Given the description of an element on the screen output the (x, y) to click on. 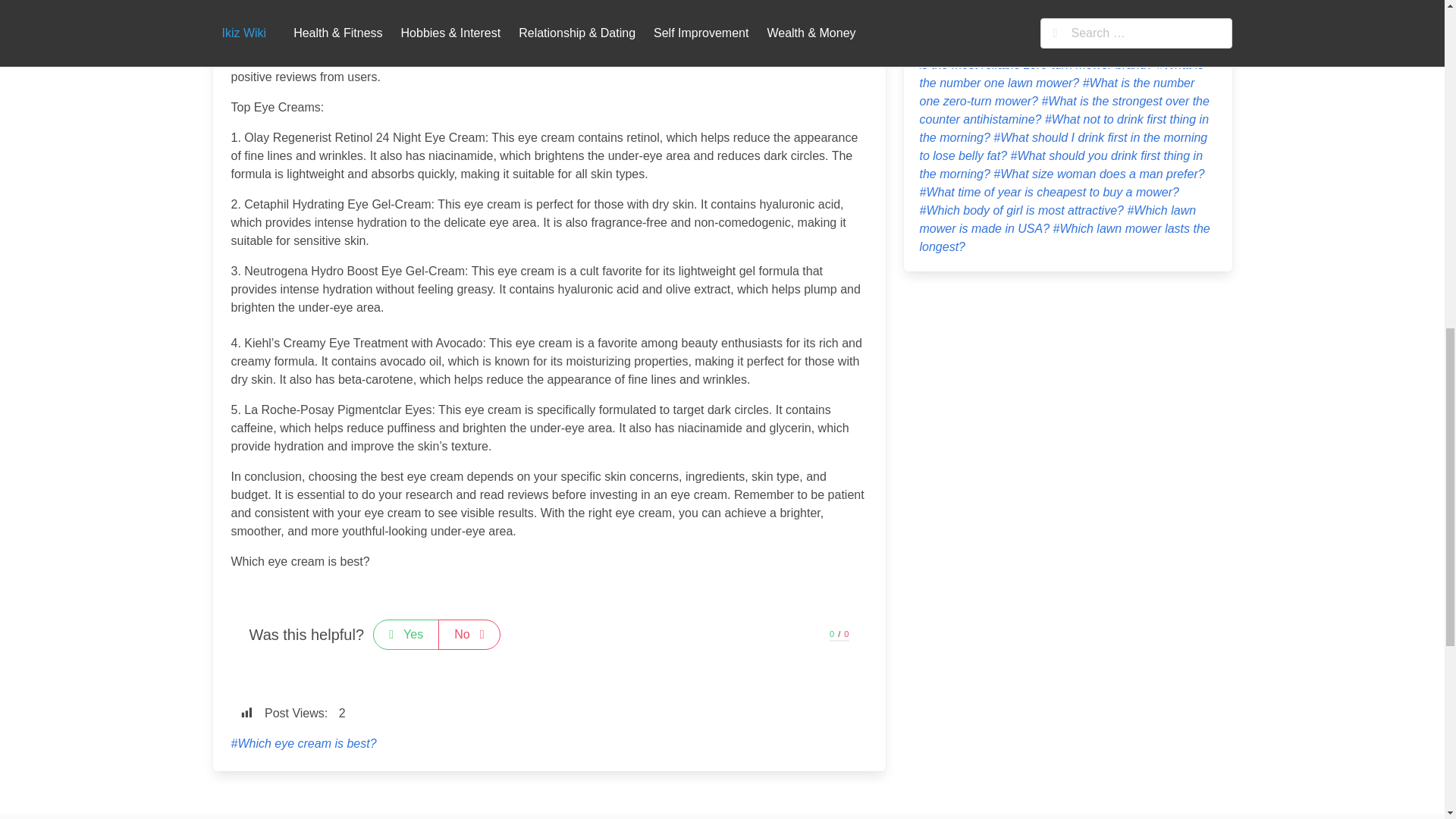
Yes (405, 634)
No (468, 634)
